Given the description of an element on the screen output the (x, y) to click on. 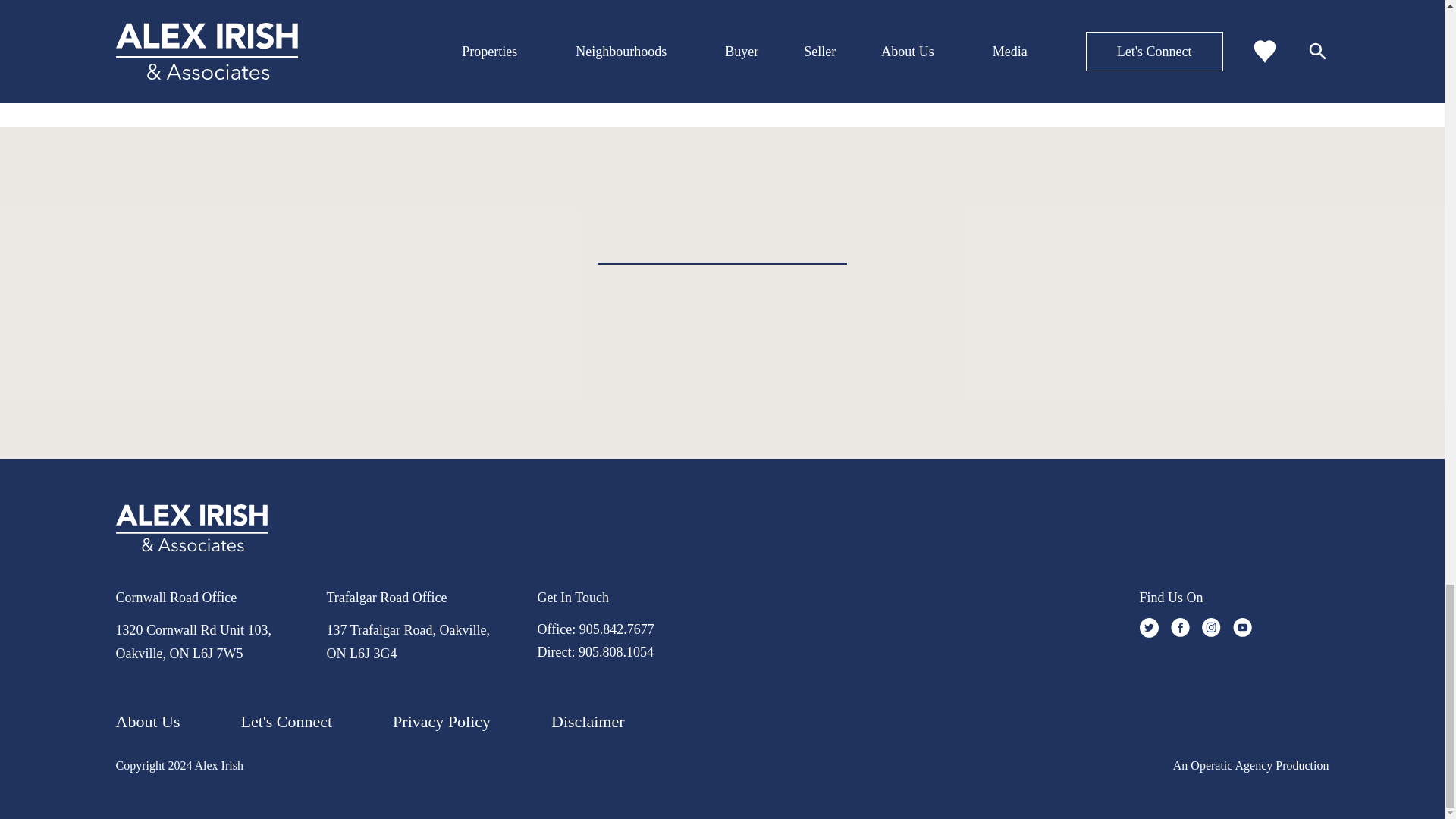
About Us (147, 721)
905.808.1054 (615, 652)
Disclaimer (587, 721)
Privacy Policy (441, 721)
An Operatic Agency Production (1251, 765)
1320 Cornwall Rd Unit 103, Oakville, ON L6J 7W5 (192, 641)
Get In Touch (572, 597)
Let's Connect (285, 721)
137 Trafalgar Road, Oakville, ON L6J 3G4 (407, 641)
905.842.7677 (616, 629)
